Given the description of an element on the screen output the (x, y) to click on. 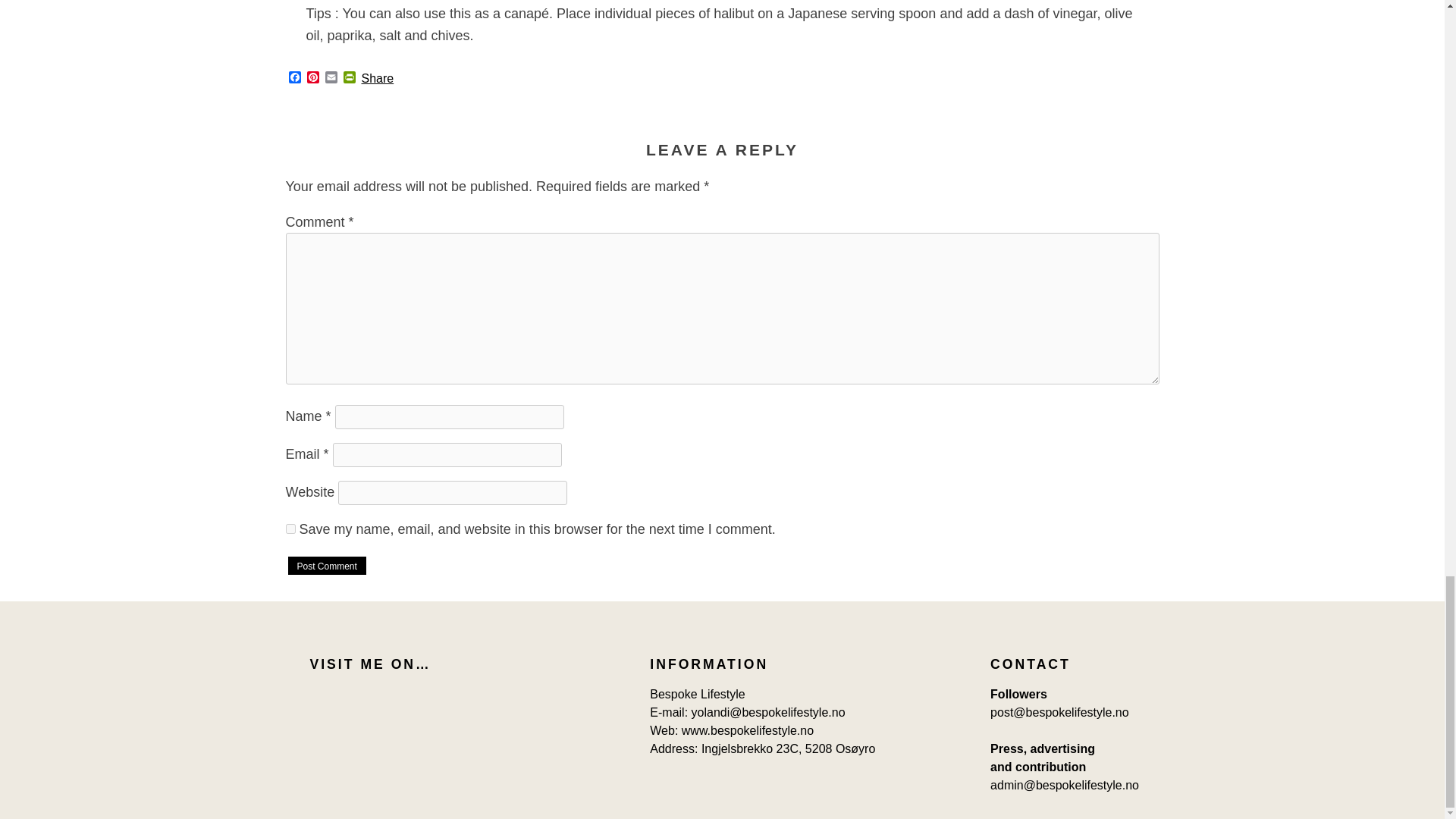
yes (290, 528)
Facebook (293, 78)
Post Comment (326, 565)
Email (330, 78)
Post Comment (326, 565)
Email (330, 78)
PrintFriendly (348, 78)
Pinterest (311, 78)
Pinterest (311, 78)
PrintFriendly (348, 78)
Share (377, 78)
Facebook (293, 78)
